Given the description of an element on the screen output the (x, y) to click on. 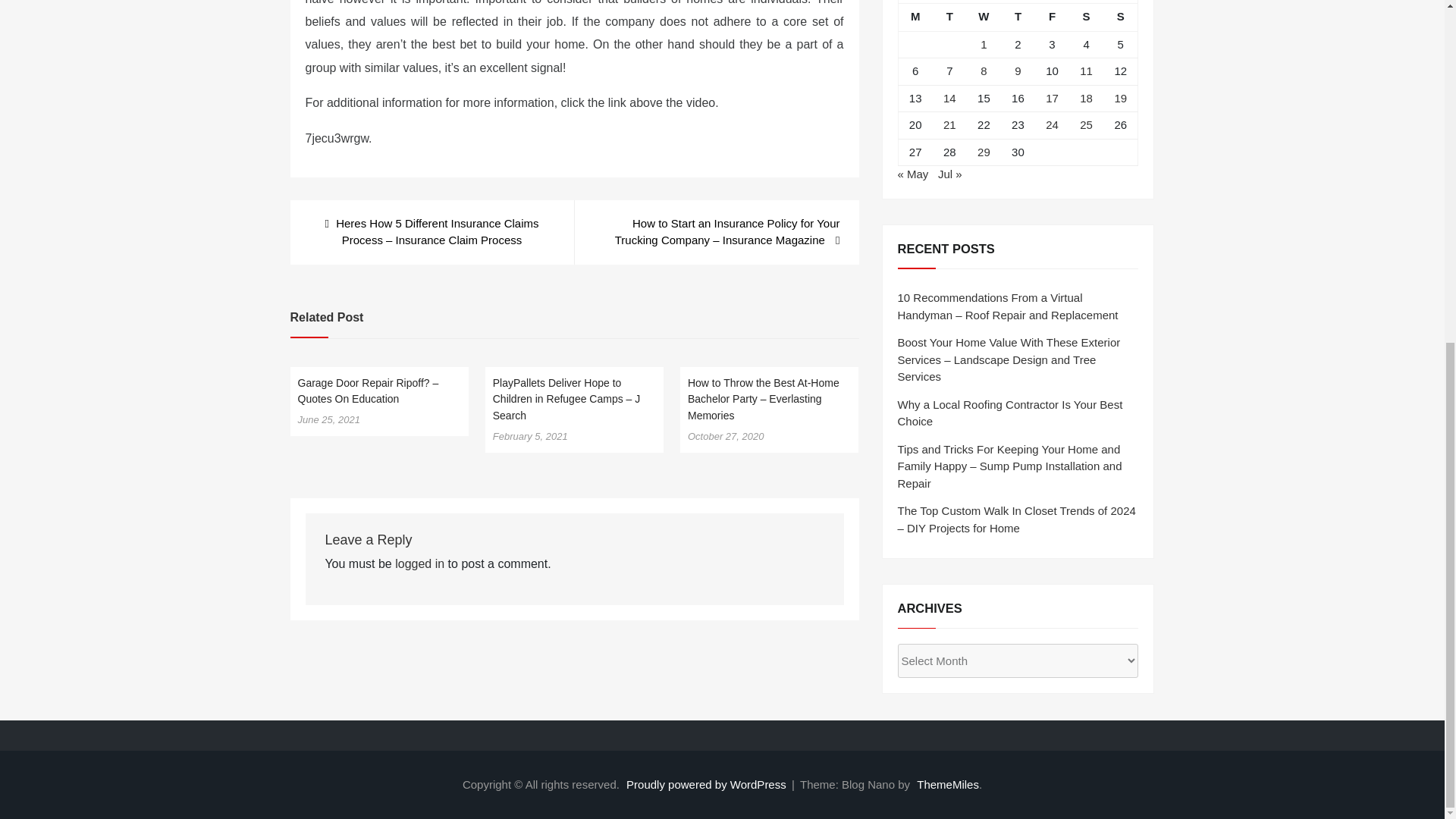
18 (1086, 97)
Monday (915, 17)
logged in (419, 563)
11 (1086, 70)
Thursday (1018, 17)
Friday (1051, 17)
Tuesday (949, 17)
19 (1119, 97)
14 (949, 97)
Saturday (1085, 17)
